Given the description of an element on the screen output the (x, y) to click on. 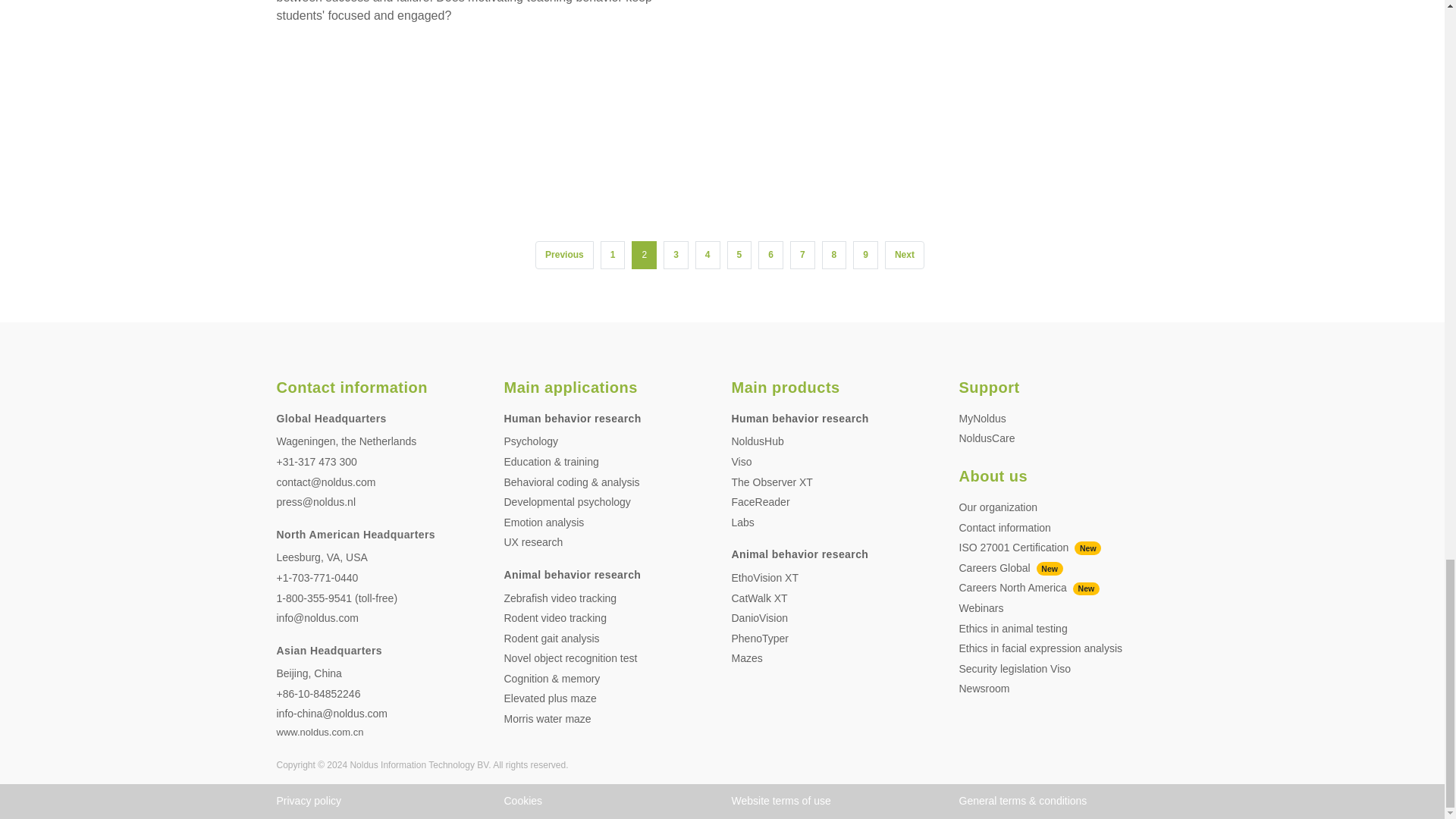
4 (707, 254)
1 (612, 254)
Previous (564, 254)
3 (675, 254)
